Given the description of an element on the screen output the (x, y) to click on. 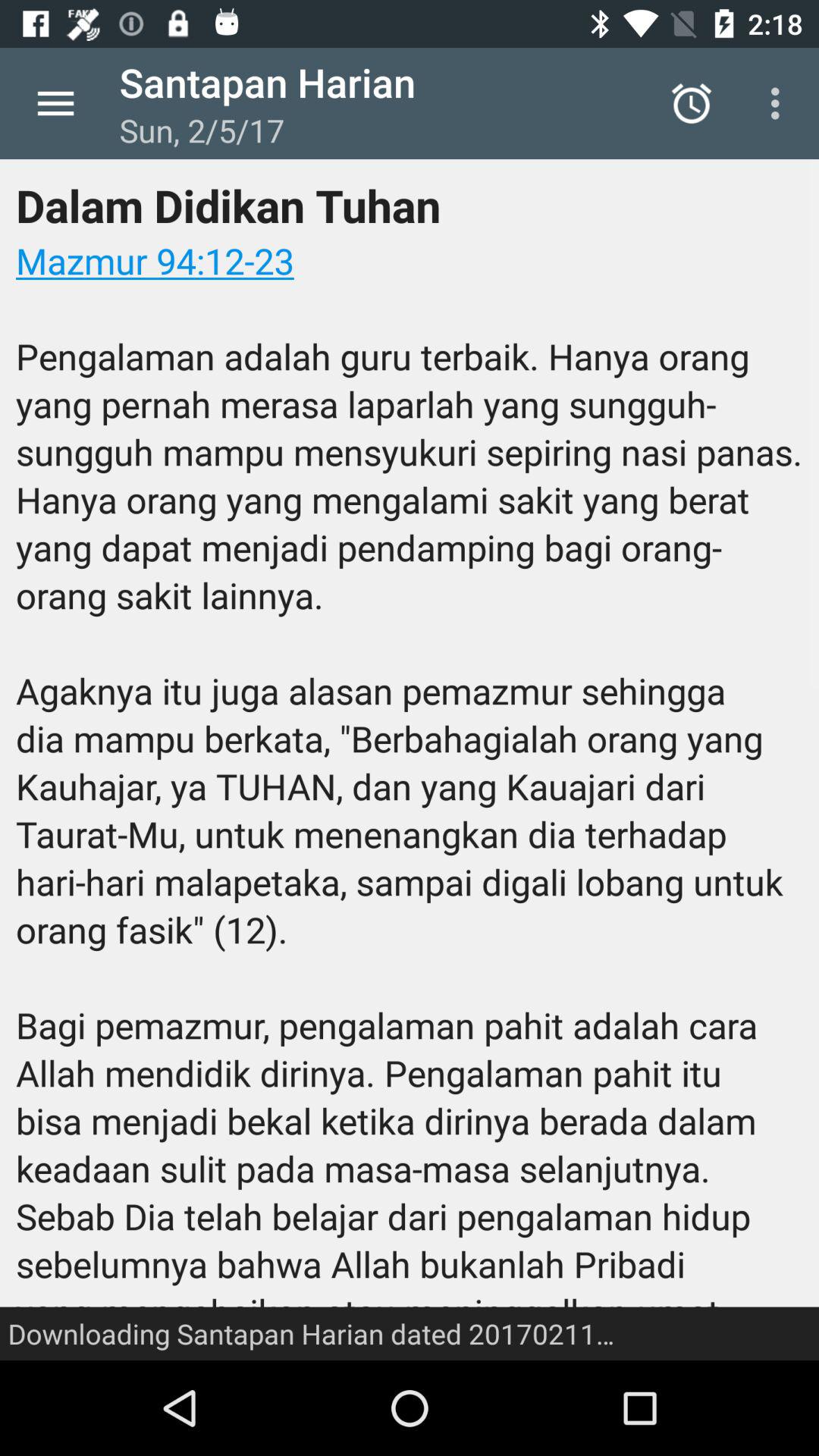
tap icon at the center (409, 759)
